Given the description of an element on the screen output the (x, y) to click on. 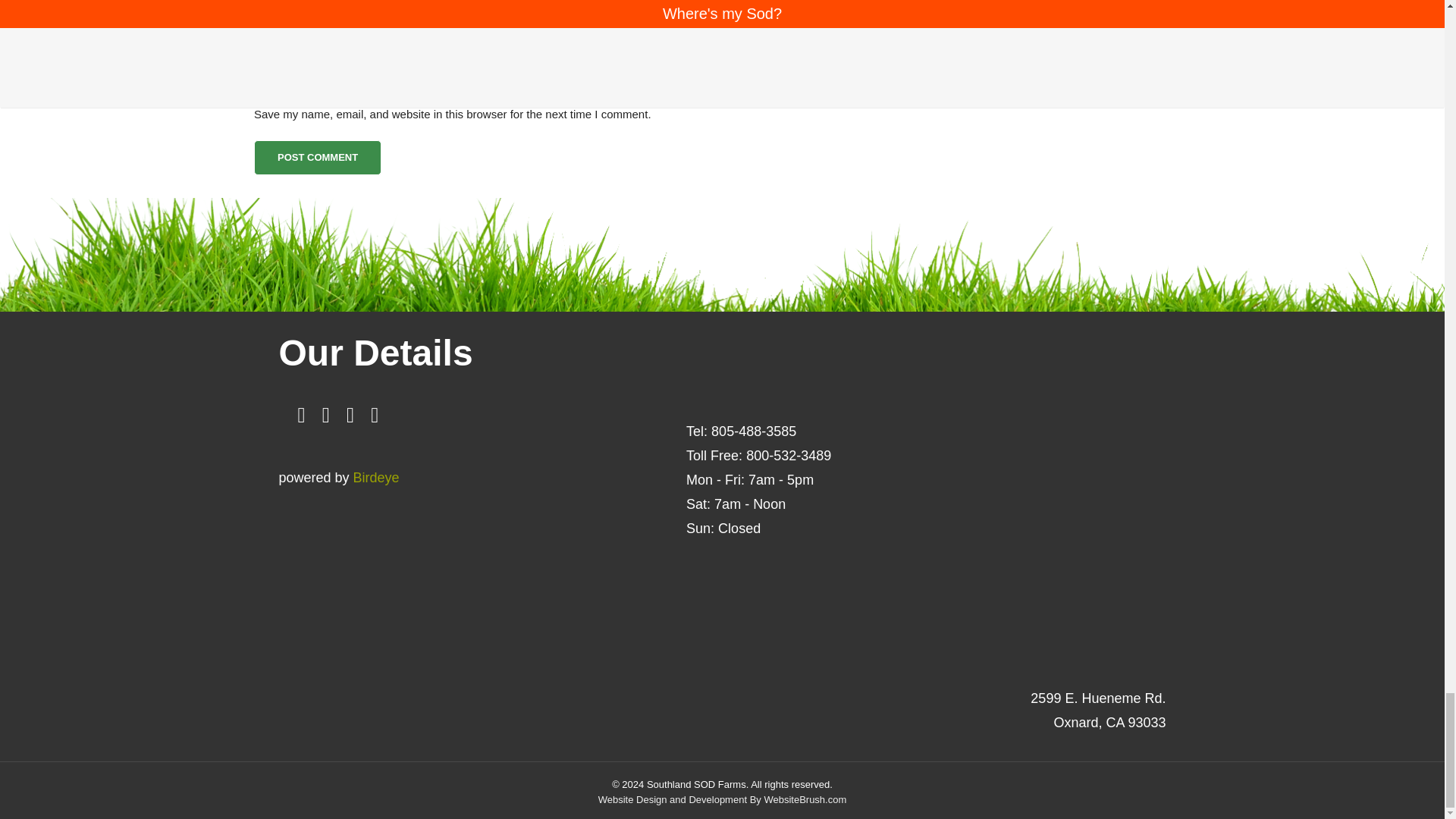
Post Comment (317, 157)
Birdeye (375, 477)
Tel: 805-488-3585 (740, 431)
yes (258, 91)
Website Design and Development By WebsiteBrush.com (722, 799)
800-532-3489 (788, 455)
Post Comment (317, 157)
